Given the description of an element on the screen output the (x, y) to click on. 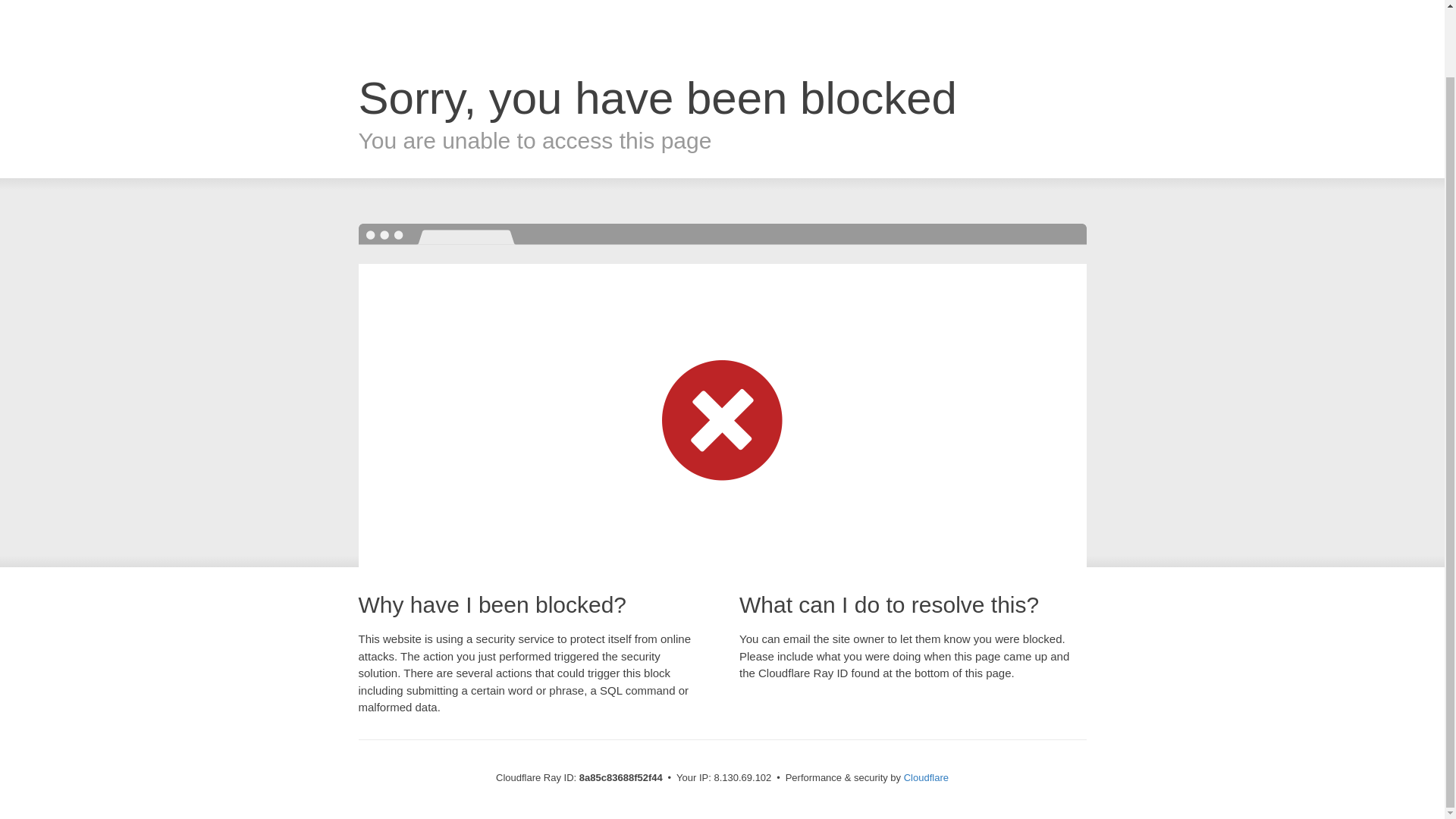
Cloudflare (926, 777)
